Given the description of an element on the screen output the (x, y) to click on. 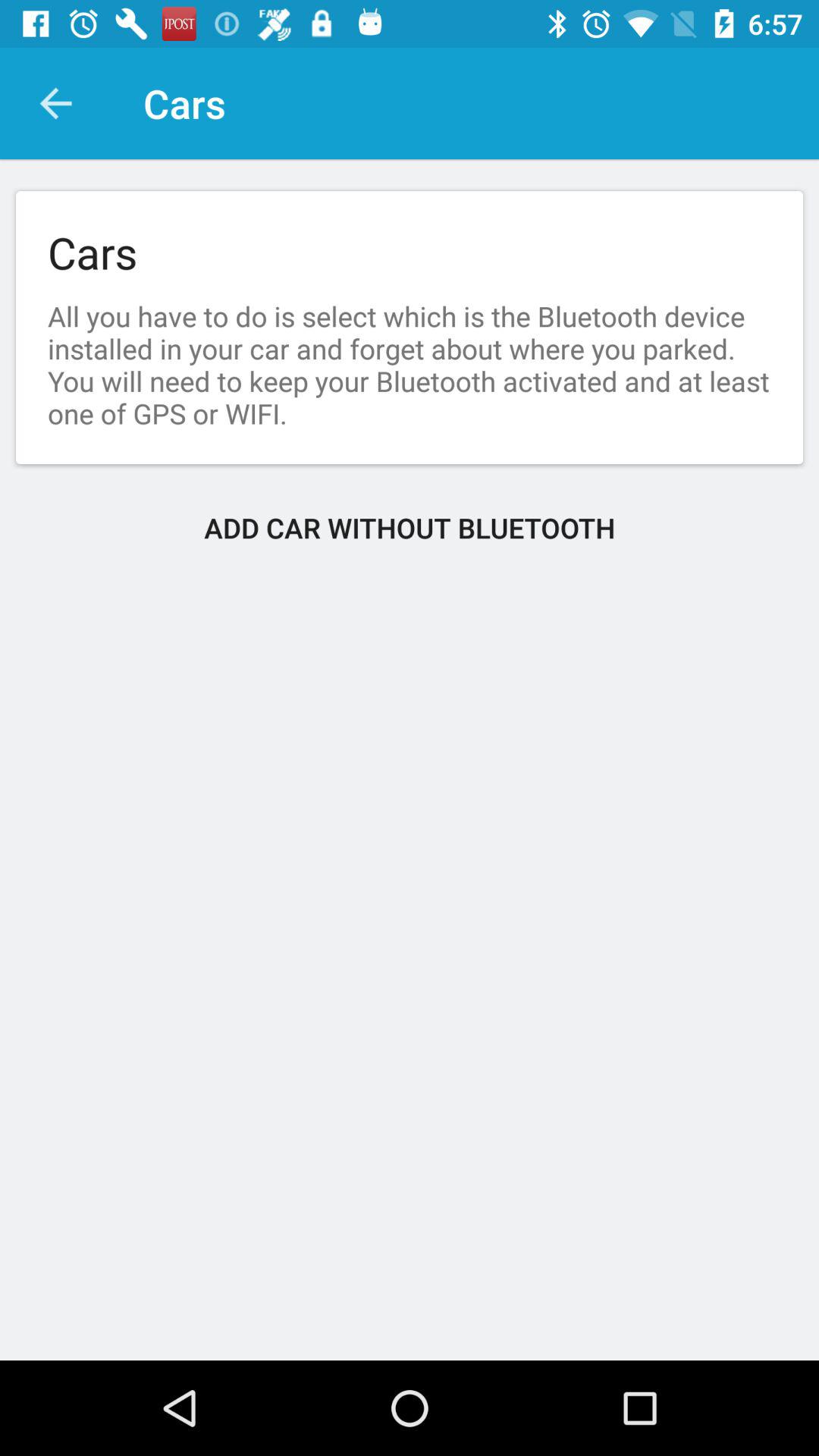
open add car without item (409, 527)
